Given the description of an element on the screen output the (x, y) to click on. 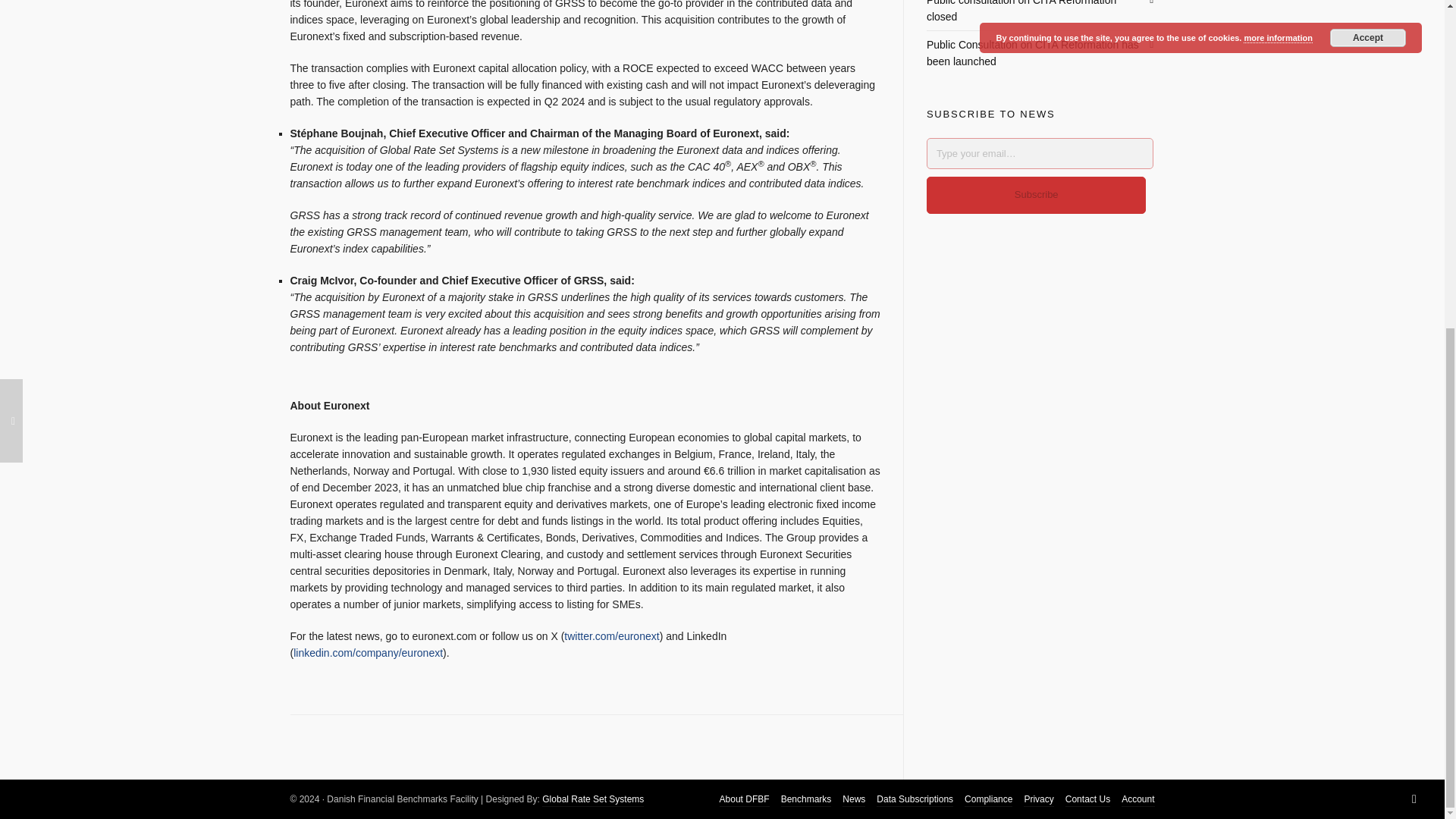
Global Rate Set Systems (592, 799)
Please fill in this field. (1040, 153)
